Given the description of an element on the screen output the (x, y) to click on. 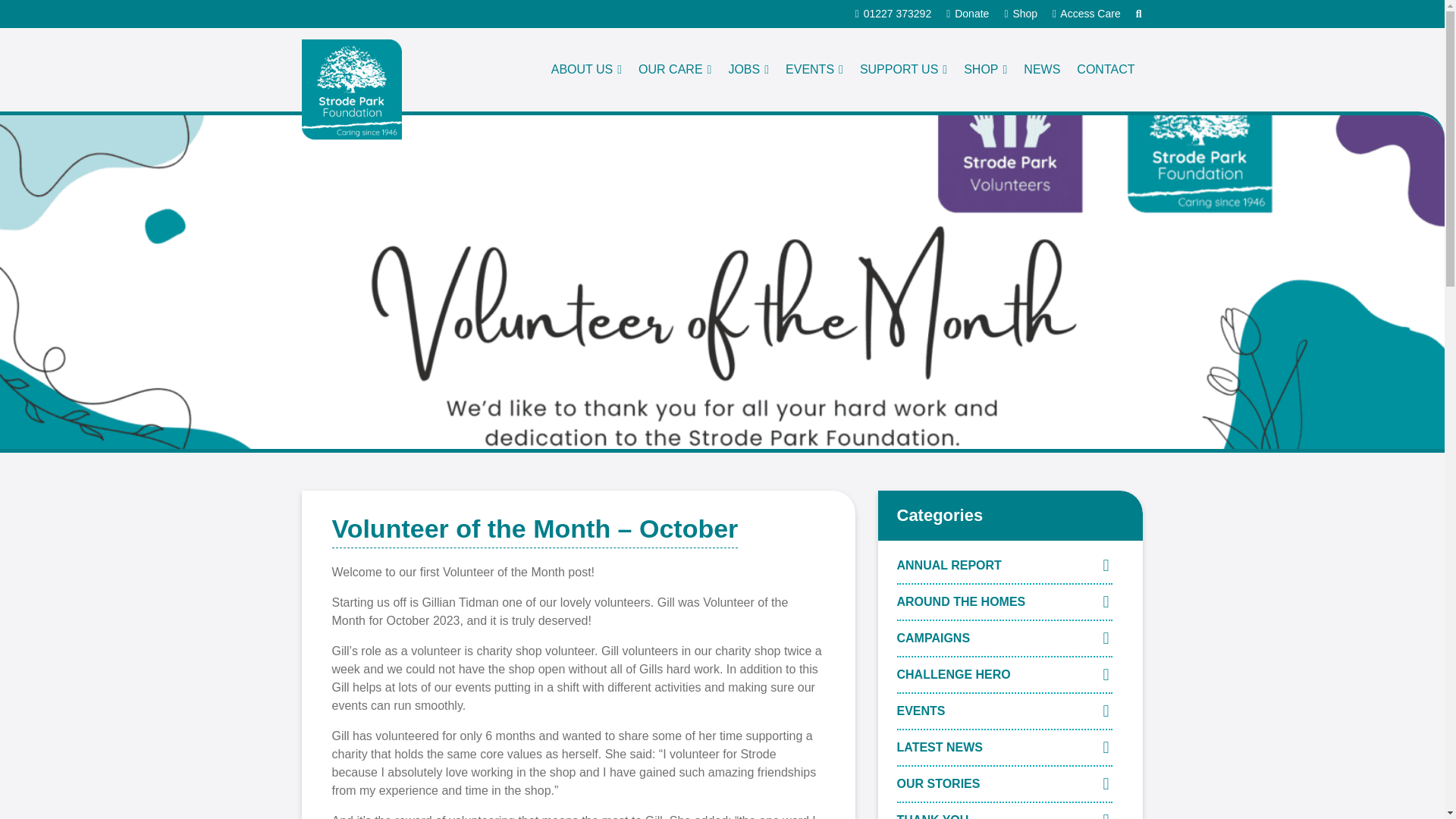
Access Care (1086, 13)
JOBS (748, 69)
Shop (1020, 13)
EVENTS (814, 69)
01227 373292 (893, 13)
ABOUT US (586, 69)
Donate (967, 13)
OUR CARE (674, 69)
